Given the description of an element on the screen output the (x, y) to click on. 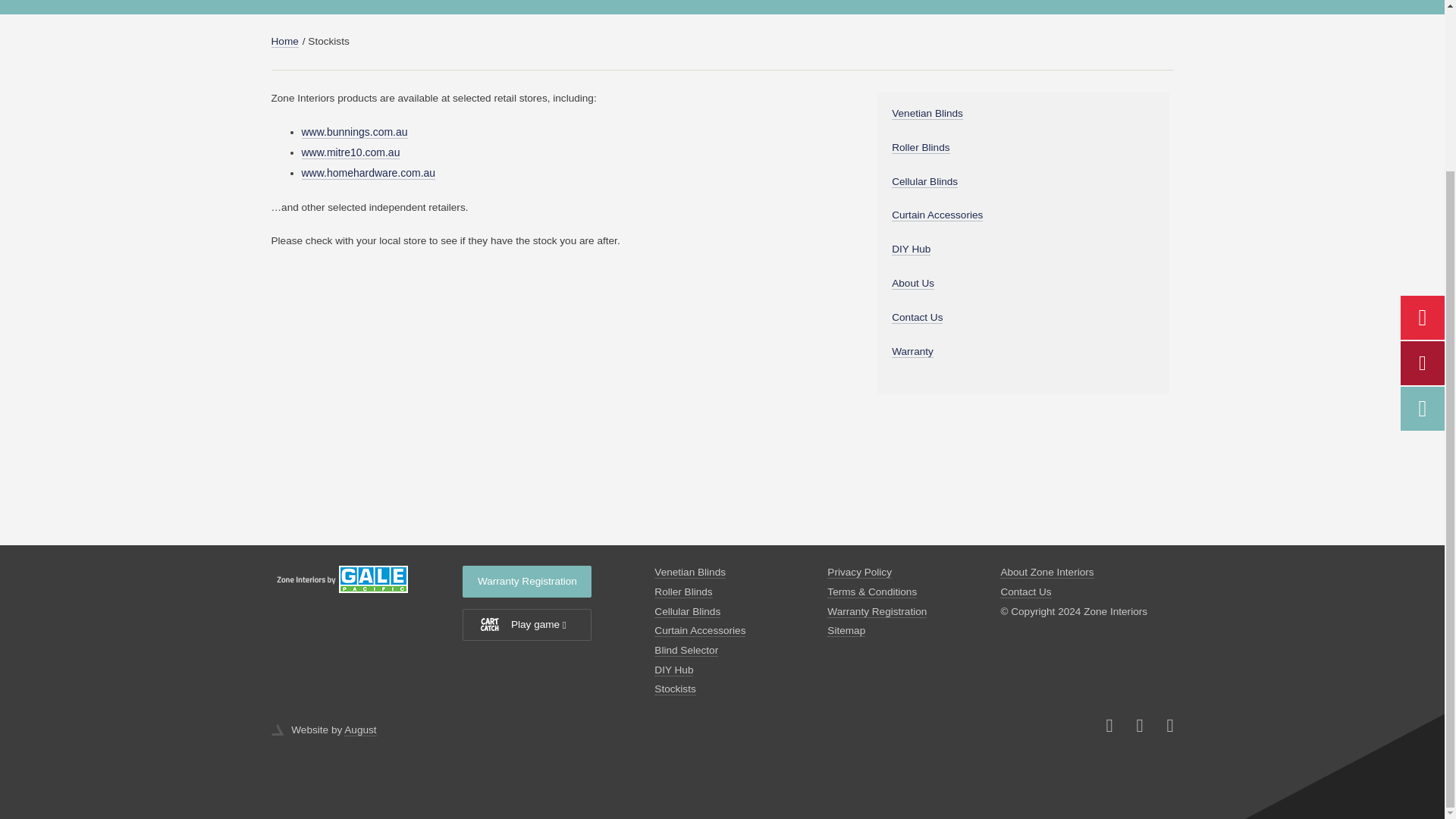
Go to home page (365, 578)
www.bunnings.com.au (354, 132)
Home (284, 41)
www.mitre10.com.au (350, 152)
Warranty Registration (527, 581)
Website by August (276, 729)
www.homehardware.com.au (368, 173)
